Given the description of an element on the screen output the (x, y) to click on. 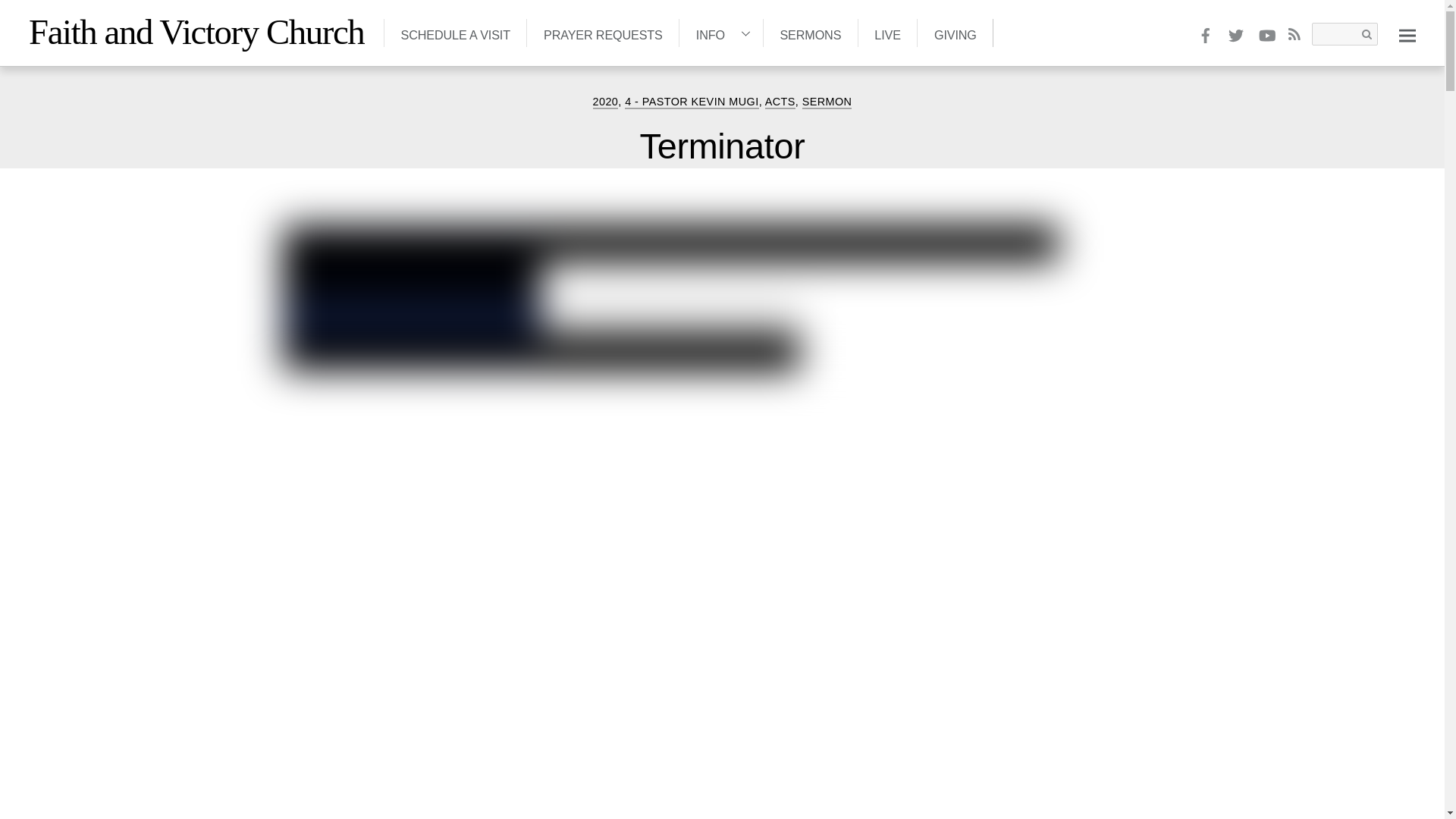
Faith and Victory Church (196, 31)
INFO (720, 31)
SERMON (826, 101)
Search (1344, 33)
SCHEDULE A VISIT (454, 31)
SERMONS (809, 31)
2020 (605, 101)
Terminator (722, 146)
PRAYER REQUESTS (601, 31)
